Given the description of an element on the screen output the (x, y) to click on. 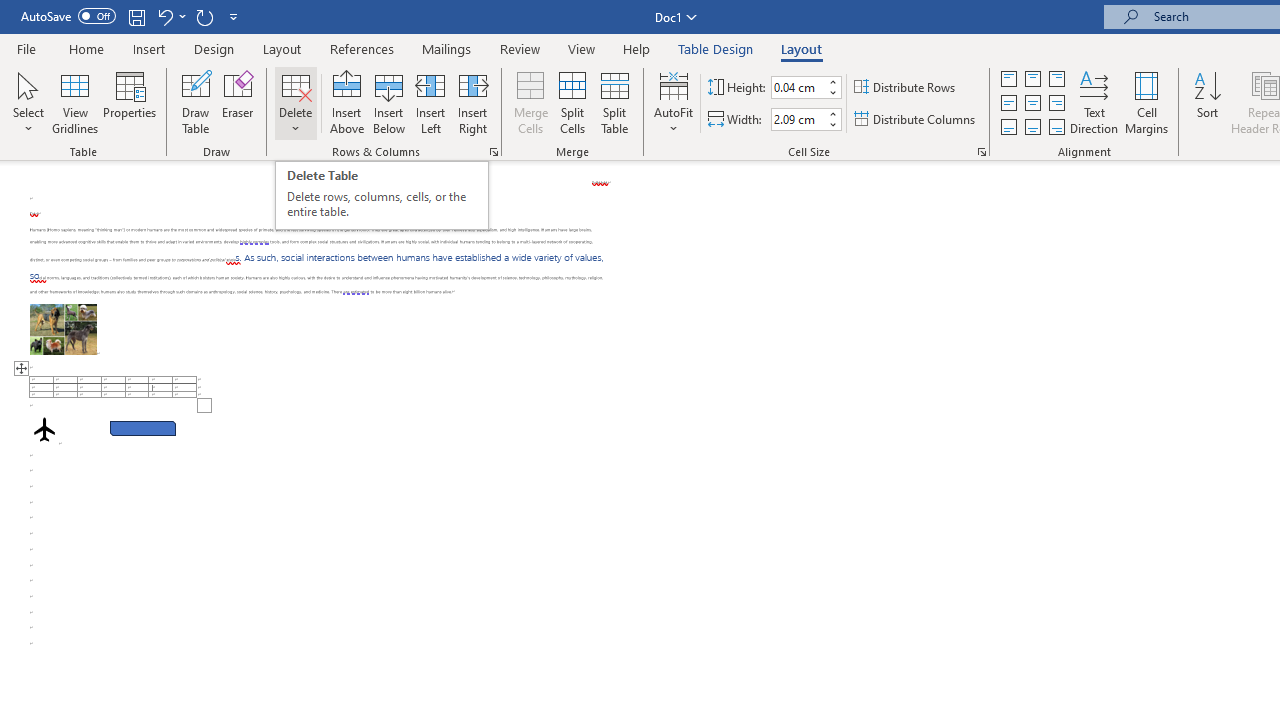
Undo Row Height Spinner (170, 15)
Properties... (981, 151)
Morphological variation in six dogs (63, 328)
Rectangle: Diagonal Corners Snipped 2 (143, 428)
Align Bottom Justified (1009, 126)
Less (832, 124)
Undo Row Height Spinner (164, 15)
Cell Margins... (1146, 102)
Table Row Height (797, 87)
Align Top Justified (1009, 78)
Delete (296, 102)
Insert Left (430, 102)
